Given the description of an element on the screen output the (x, y) to click on. 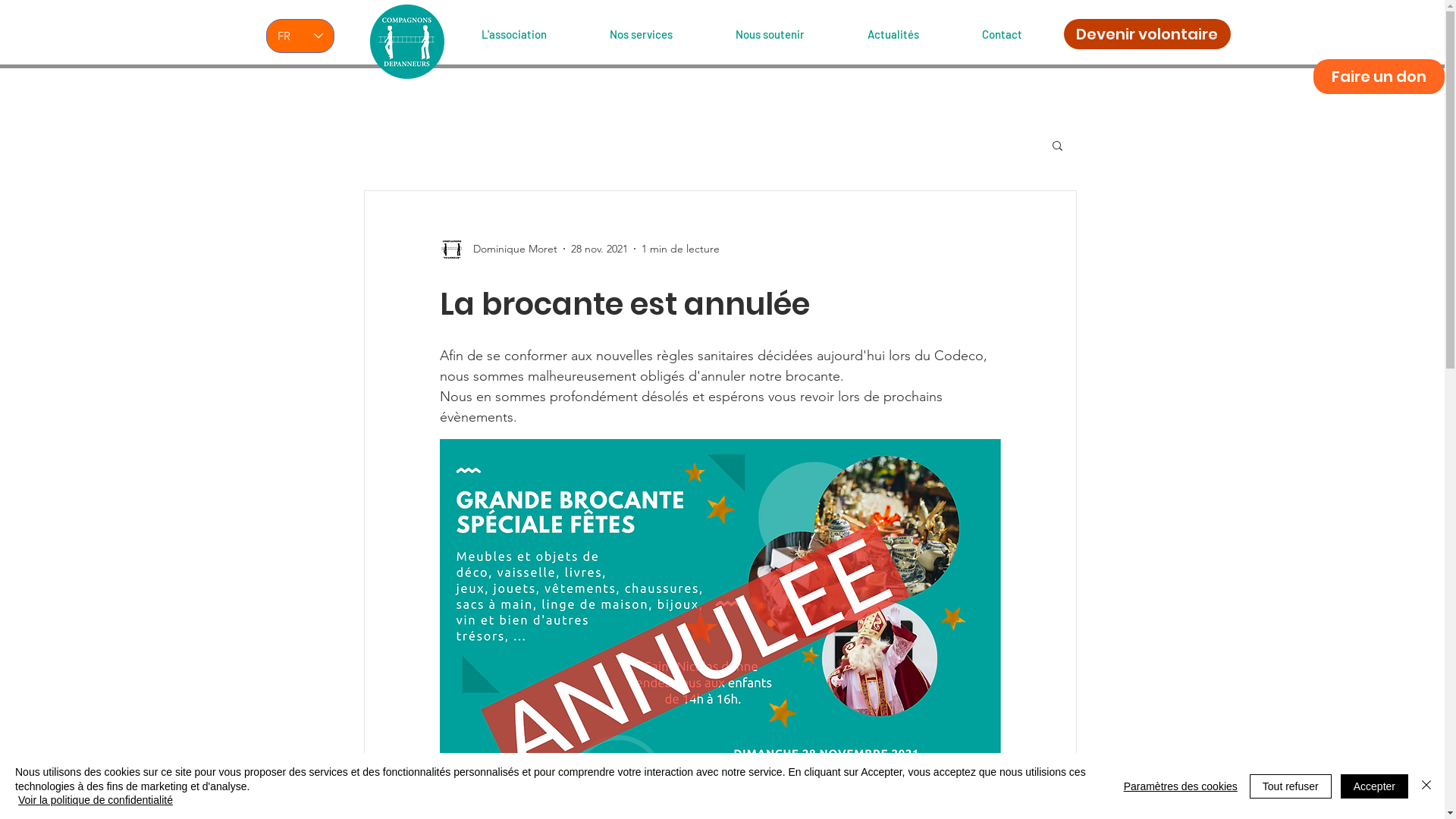
Tout refuser Element type: text (1290, 786)
Accepter Element type: text (1374, 786)
L'association Element type: text (534, 27)
Devenir volontaire Element type: text (1146, 33)
Nos services Element type: text (661, 27)
Contact Element type: text (1021, 27)
Nous soutenir Element type: text (790, 27)
Faire un don Element type: text (1378, 76)
